Given the description of an element on the screen output the (x, y) to click on. 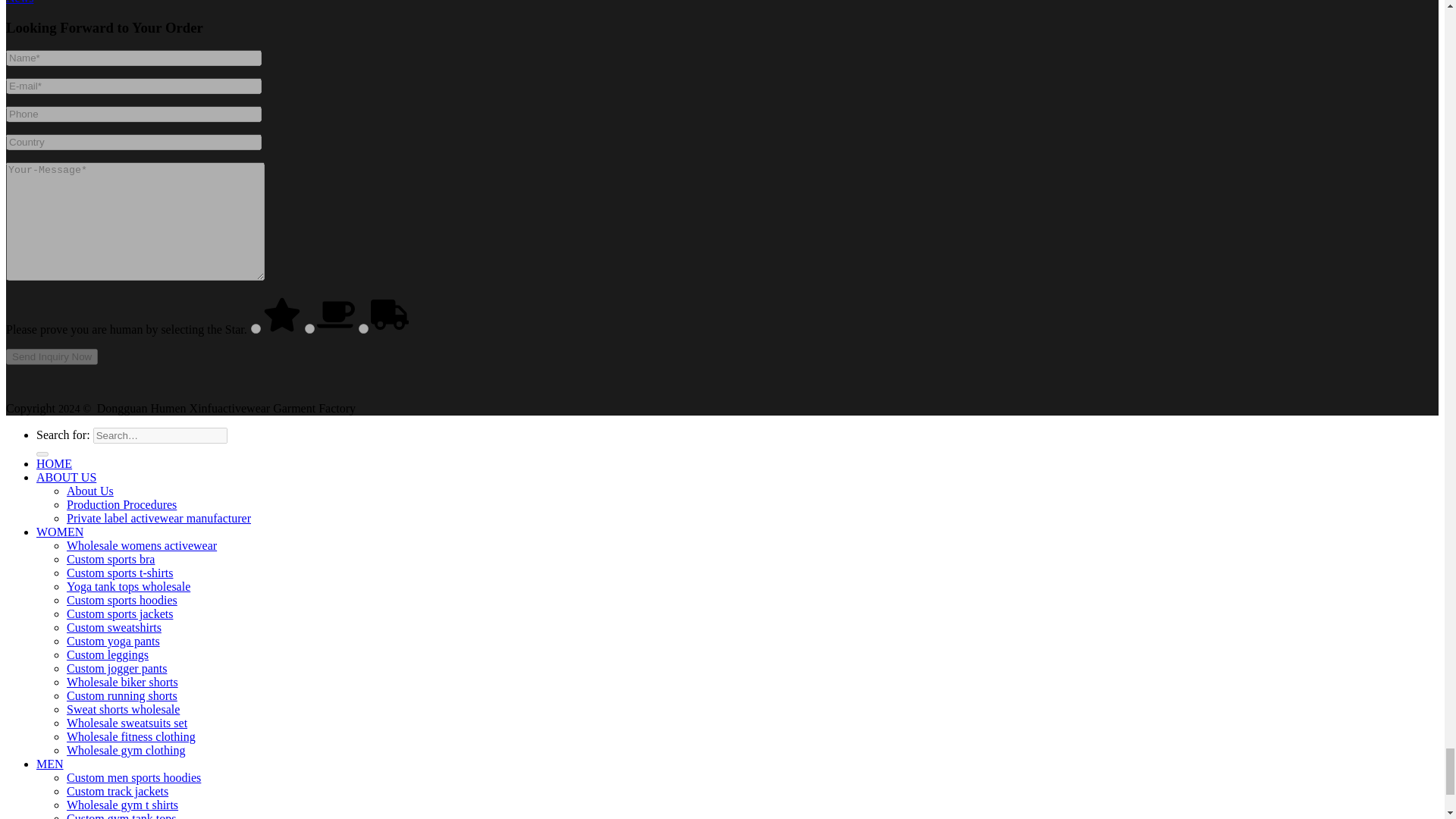
bot (309, 328)
